Given the description of an element on the screen output the (x, y) to click on. 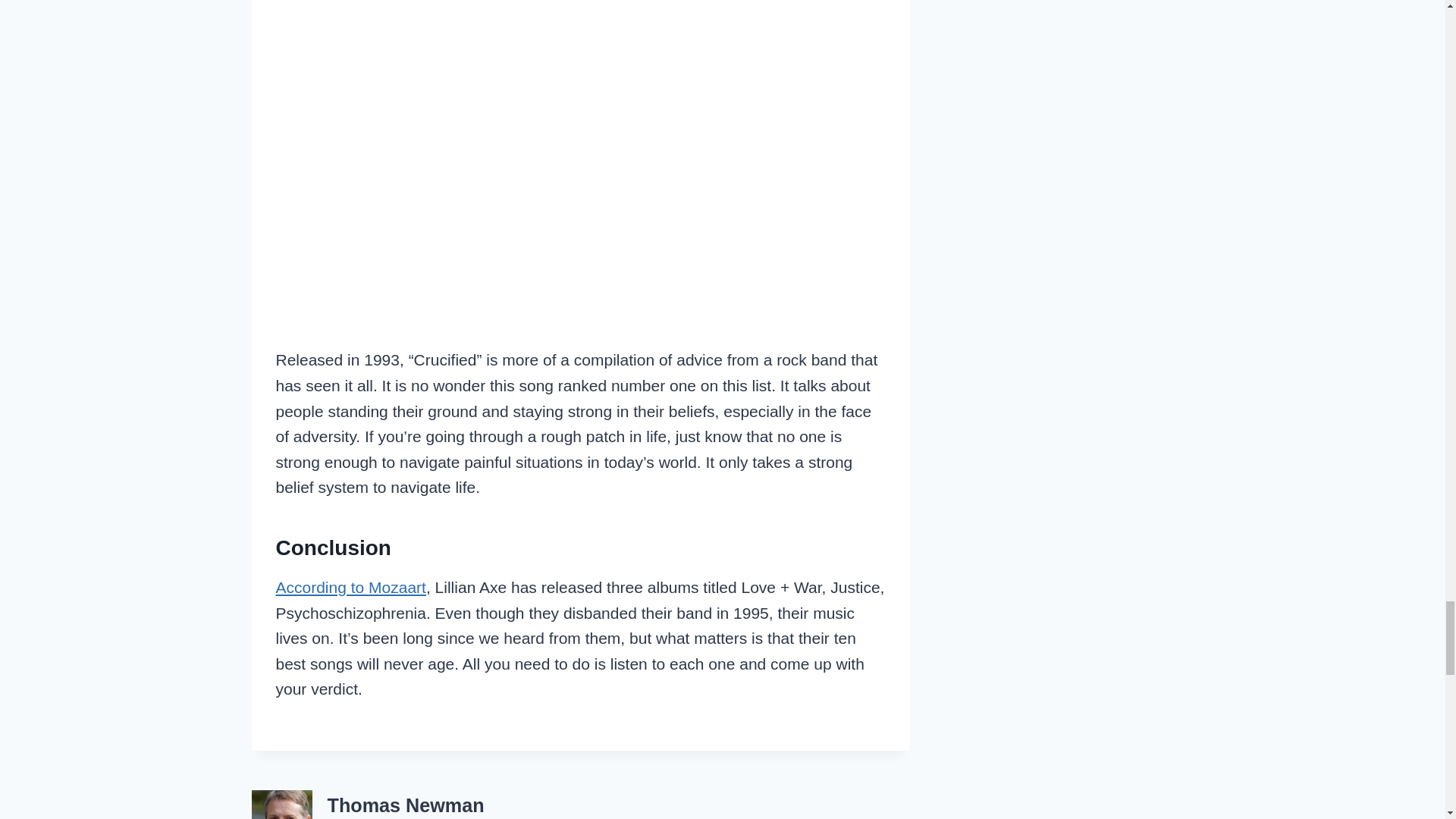
Posts by Thomas Newman (405, 804)
According to Mozaart (351, 587)
Thomas Newman (405, 804)
